Given the description of an element on the screen output the (x, y) to click on. 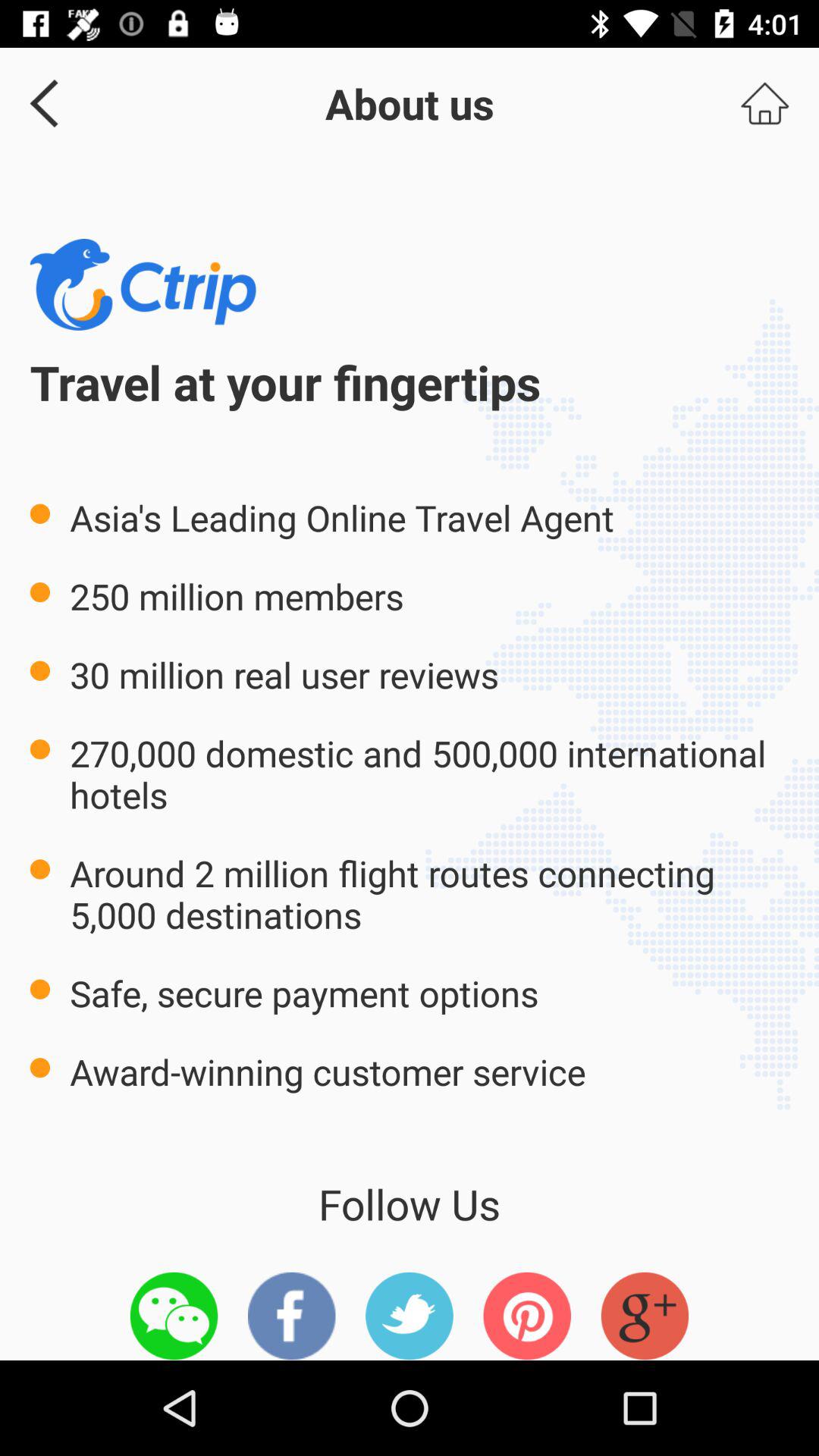
follow on facebook (291, 1315)
